Given the description of an element on the screen output the (x, y) to click on. 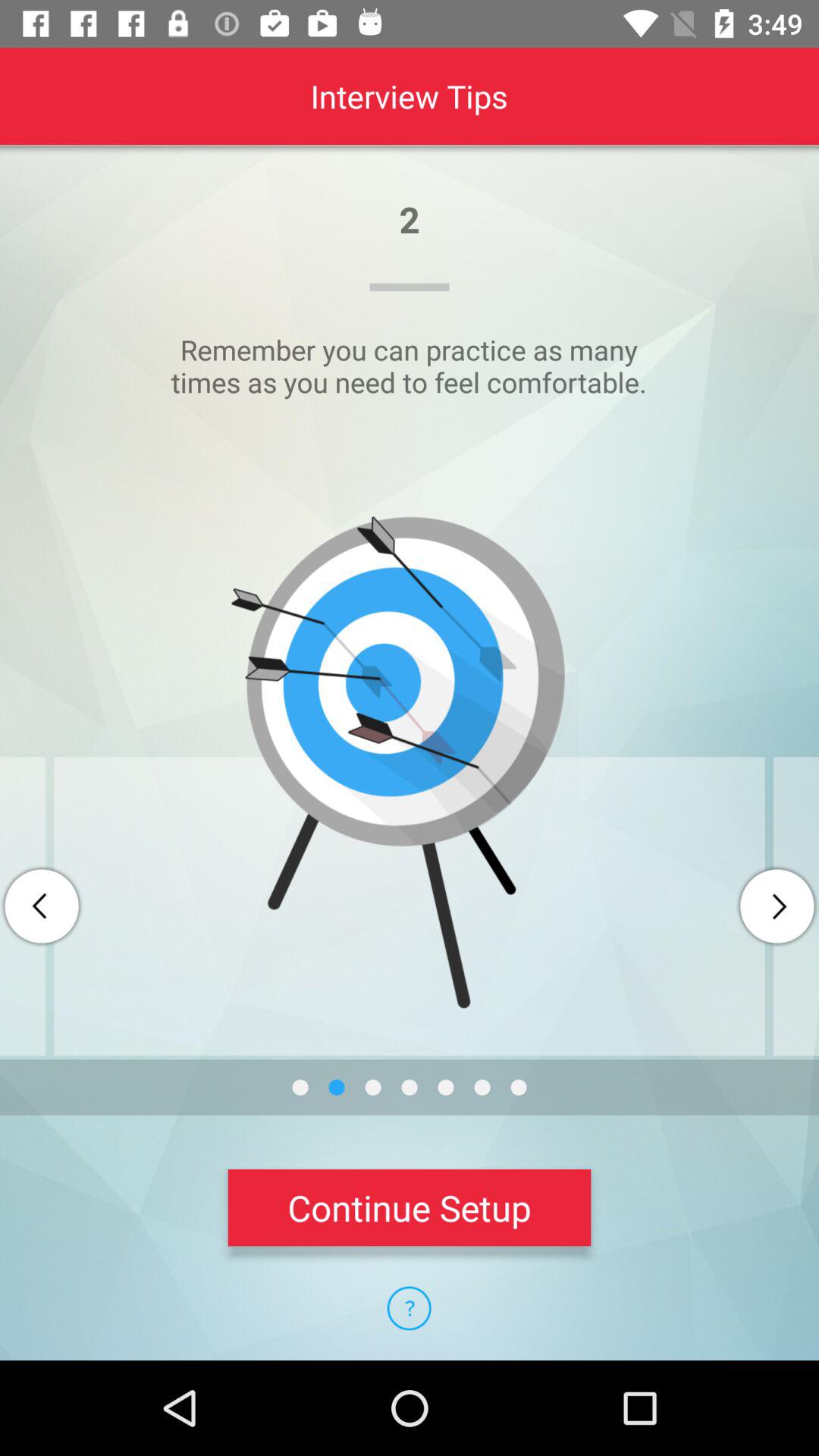
back option (41, 906)
